Given the description of an element on the screen output the (x, y) to click on. 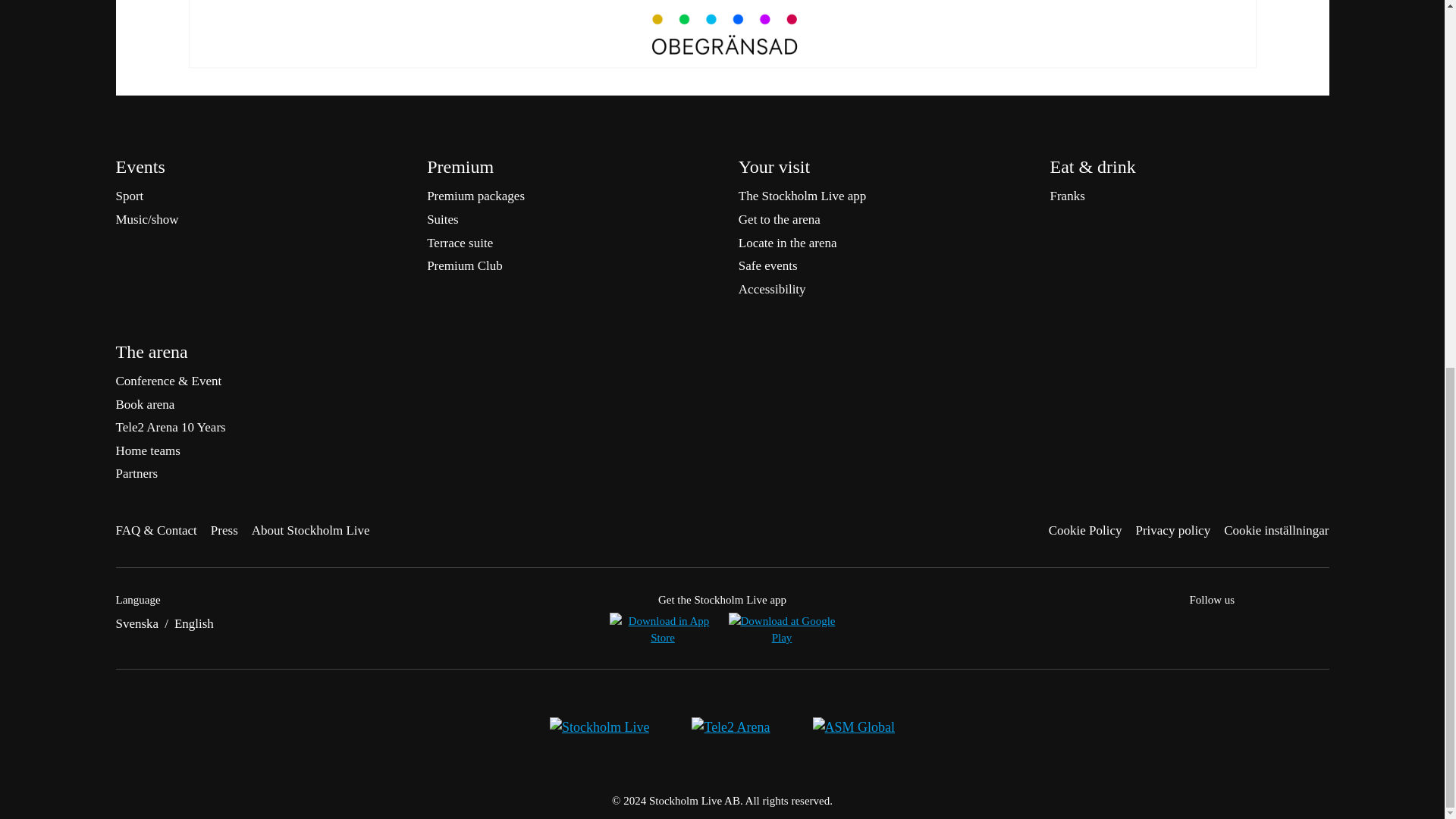
Twitter (1228, 626)
Facebook (1198, 626)
Instagram (1258, 626)
YouTube (1318, 626)
LinkedIn (1288, 626)
